Given the description of an element on the screen output the (x, y) to click on. 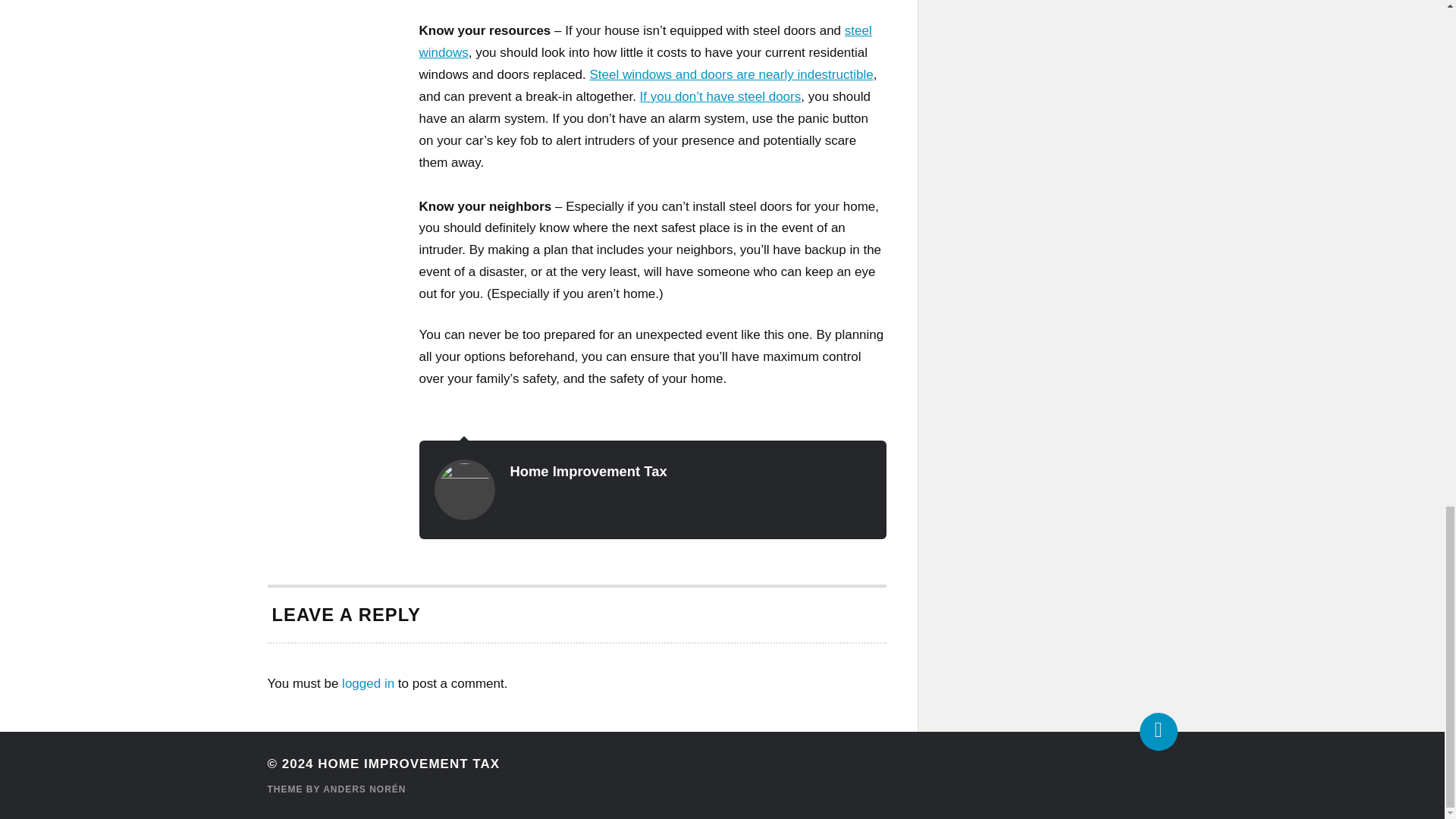
logged in (368, 683)
HOME IMPROVEMENT TAX (408, 763)
For the real scoop on Custom steel windows (721, 96)
Home Improvement Tax (587, 471)
Commercial windows (644, 41)
I link here (730, 74)
Steel windows and doors are nearly indestructible (730, 74)
steel windows (644, 41)
